Given the description of an element on the screen output the (x, y) to click on. 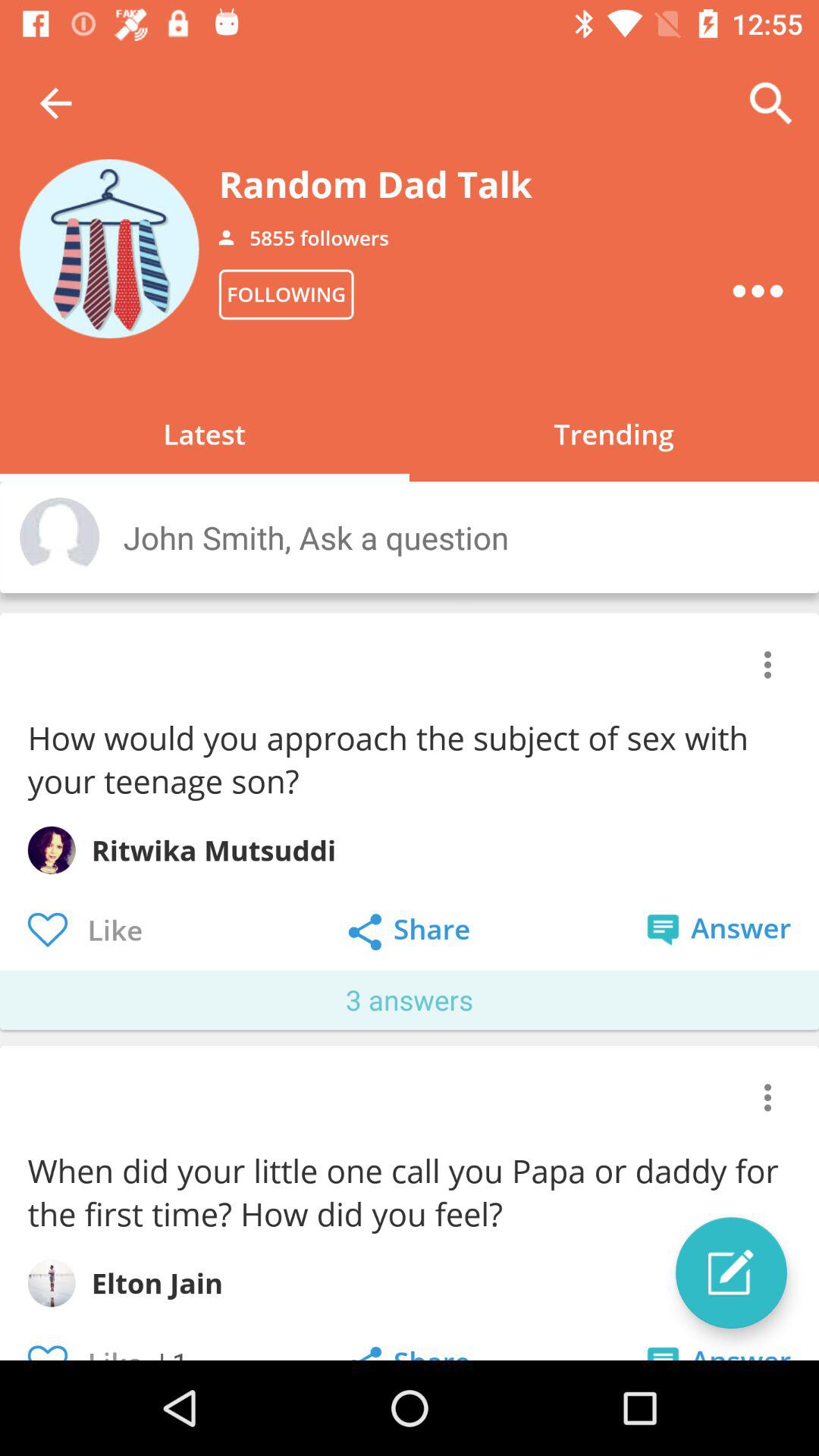
turn off icon above the latest item (285, 294)
